Given the description of an element on the screen output the (x, y) to click on. 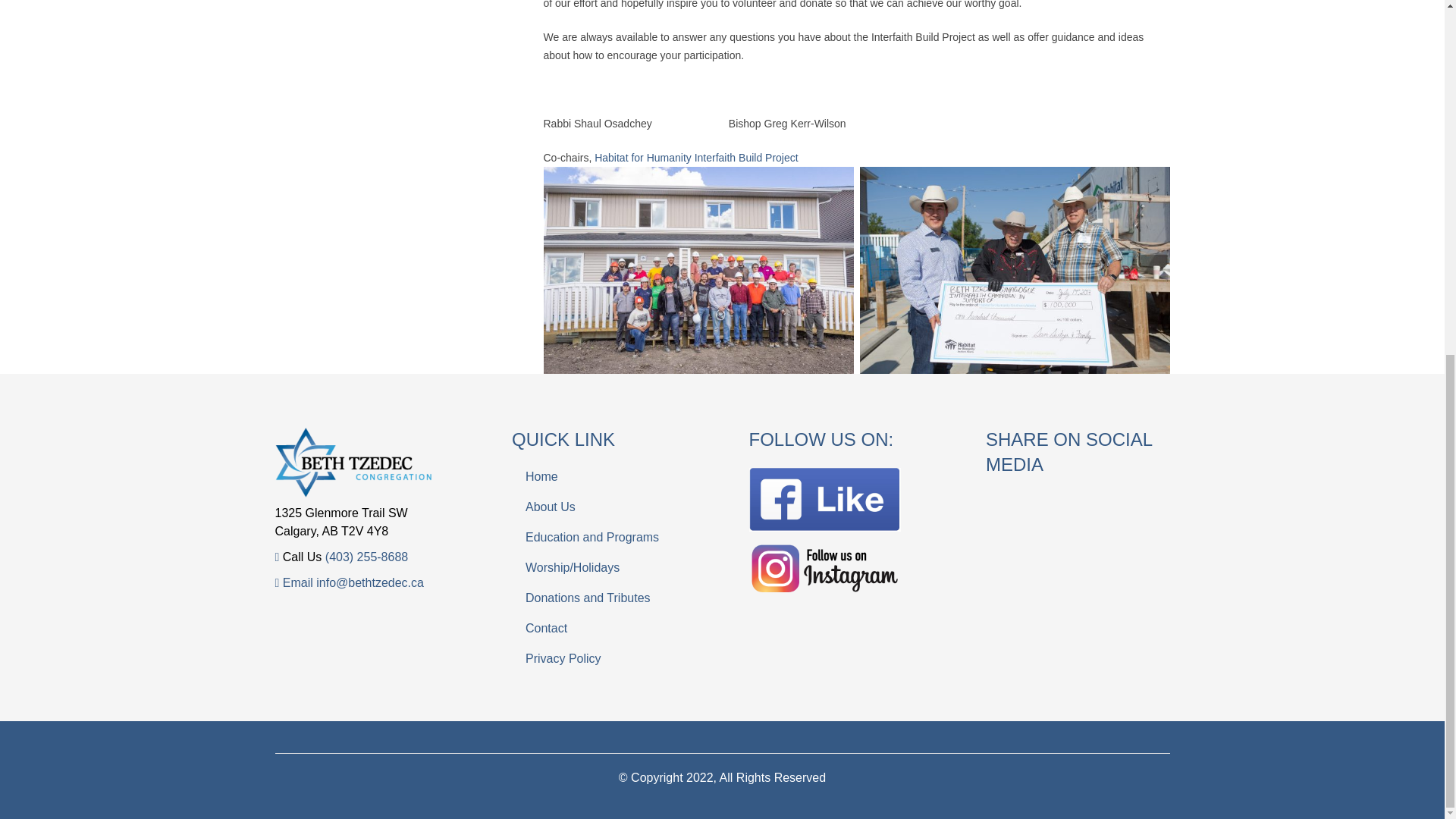
August 24, 2016 Clergy Build Day (698, 269)
Back to top (1413, 220)
